Given the description of an element on the screen output the (x, y) to click on. 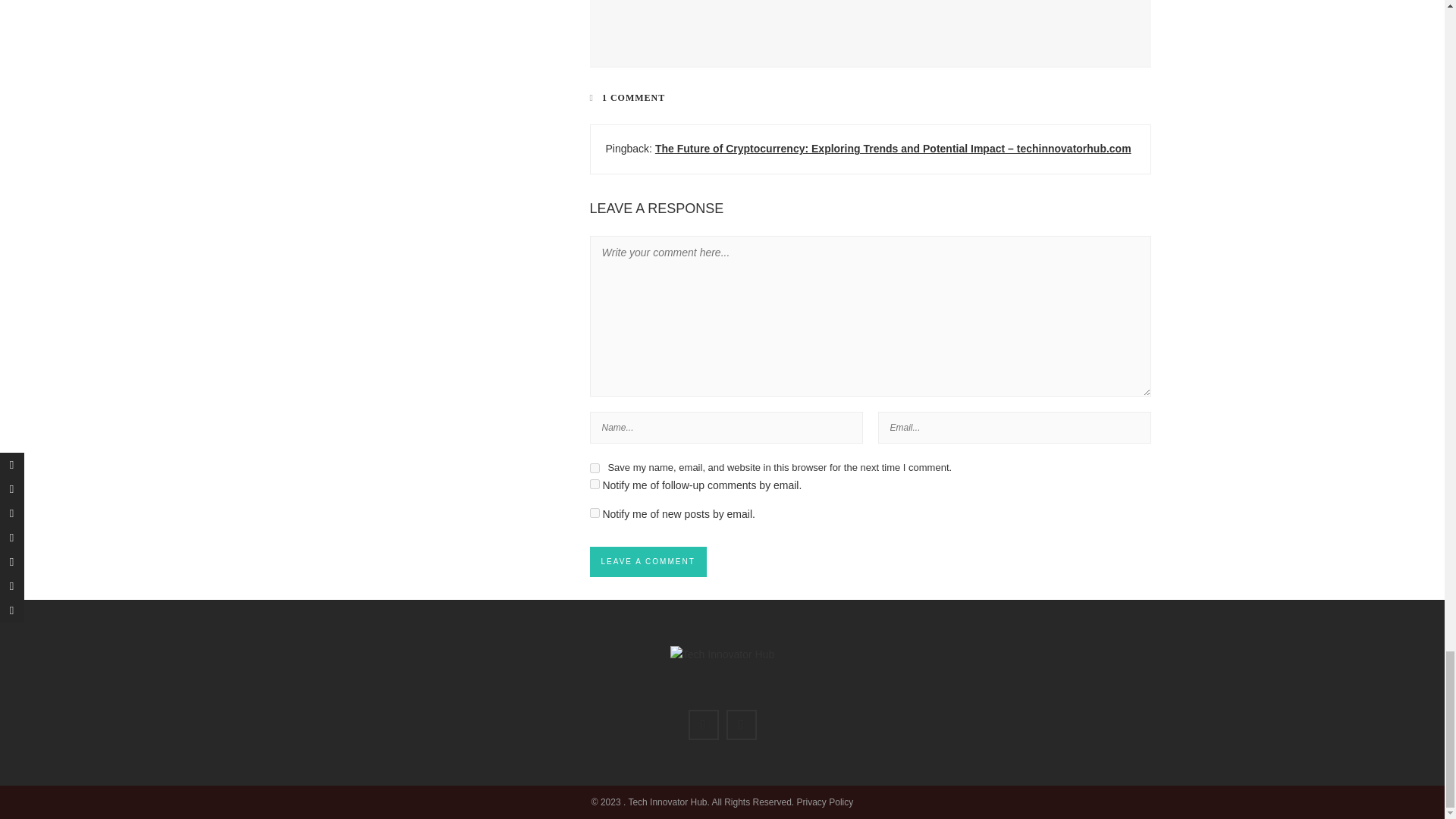
subscribe (594, 512)
Leave a comment (647, 562)
yes (594, 468)
subscribe (594, 483)
